Given the description of an element on the screen output the (x, y) to click on. 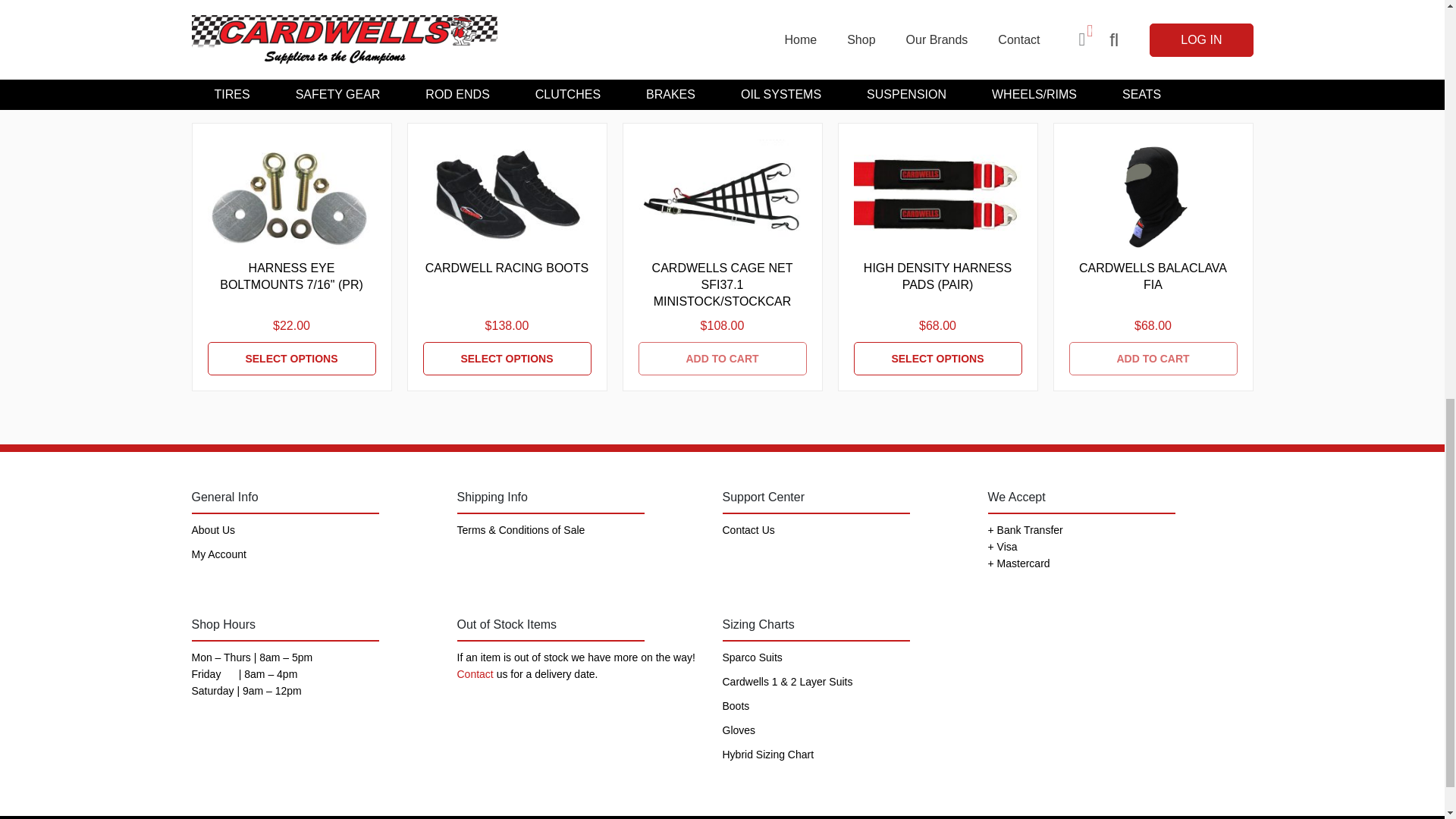
Add to cart (722, 358)
CARDWELLS BALACLAVA FIA (1152, 276)
CARDWELL RACING BOOTS (507, 358)
CARDWELL RACING BOOTS (507, 195)
CARDWELL RACING BOOTS (507, 268)
